Given the description of an element on the screen output the (x, y) to click on. 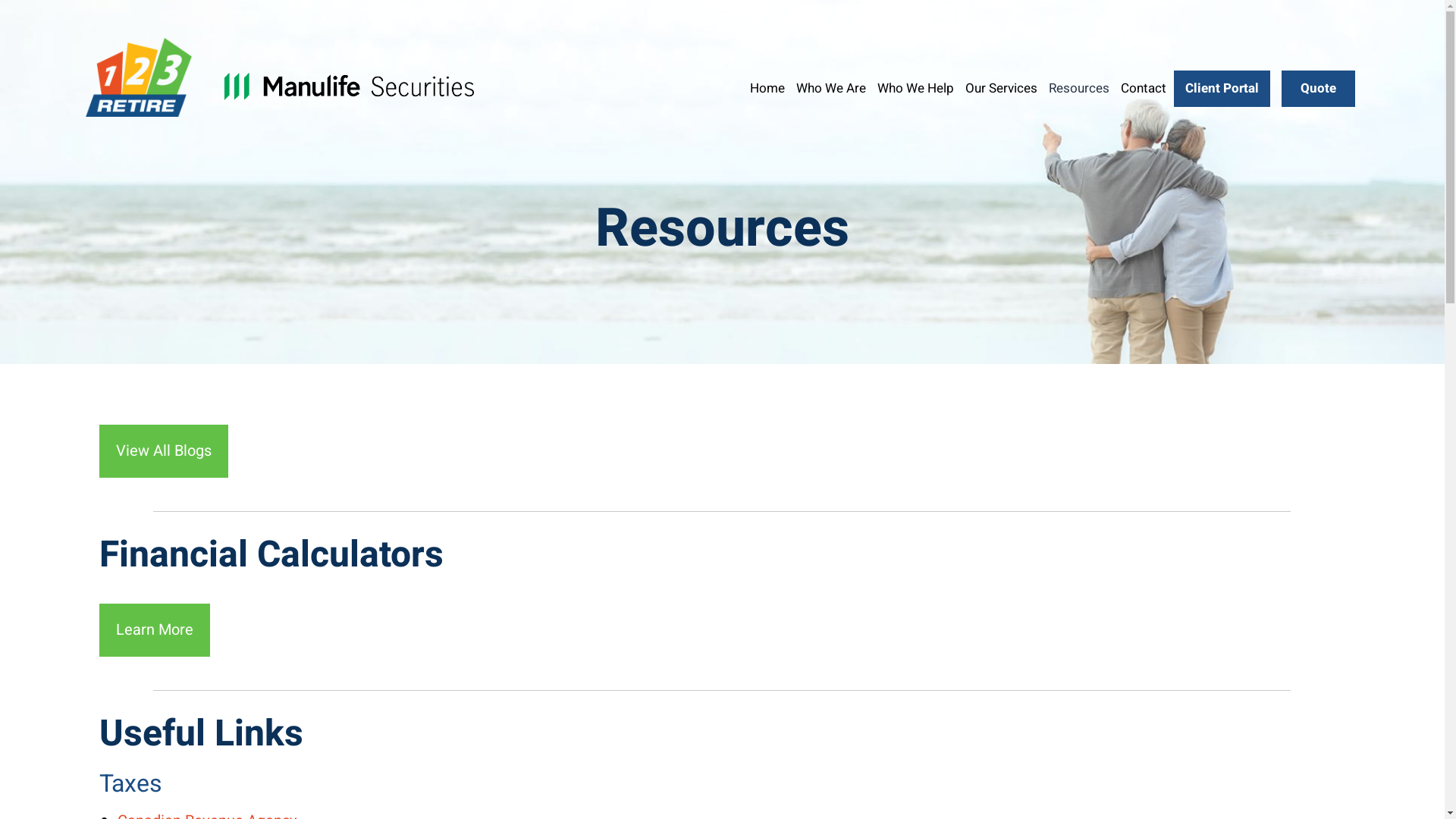
Home Element type: text (767, 88)
Our Services Element type: text (1001, 88)
Quote Element type: text (1318, 88)
Who We Are Element type: text (830, 88)
Who We Help Element type: text (915, 88)
View All Blogs Element type: text (163, 450)
Client Portal Element type: text (1221, 88)
Resources Element type: text (1078, 88)
Contact Element type: text (1143, 88)
Learn More Element type: text (154, 629)
Skip to main content Element type: text (0, 0)
